Given the description of an element on the screen output the (x, y) to click on. 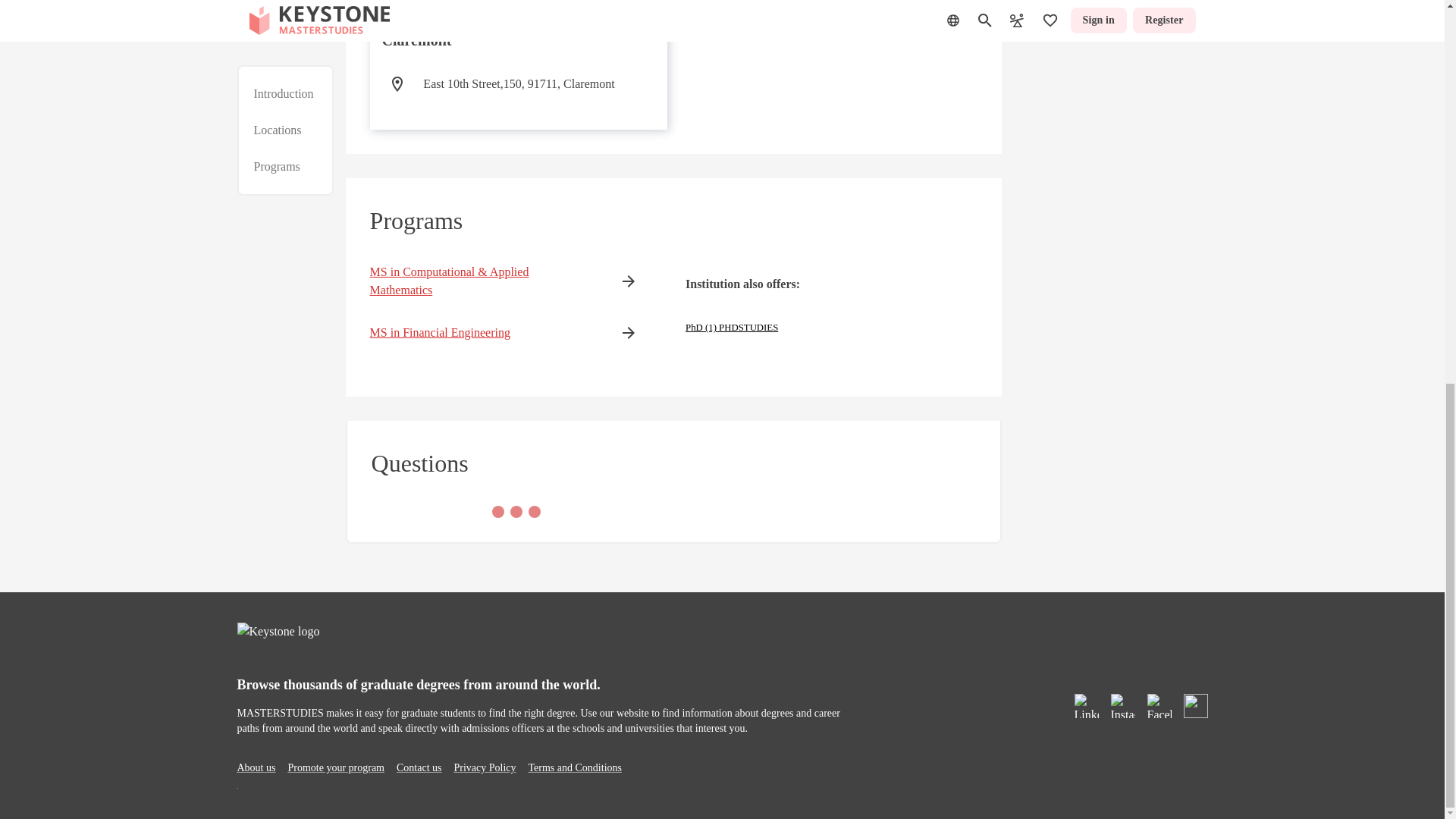
MS in Financial Engineering (480, 332)
Contact us (419, 767)
Promote your program (335, 767)
Privacy Policy (483, 767)
Terms and Conditions (574, 767)
About us (255, 767)
